Given the description of an element on the screen output the (x, y) to click on. 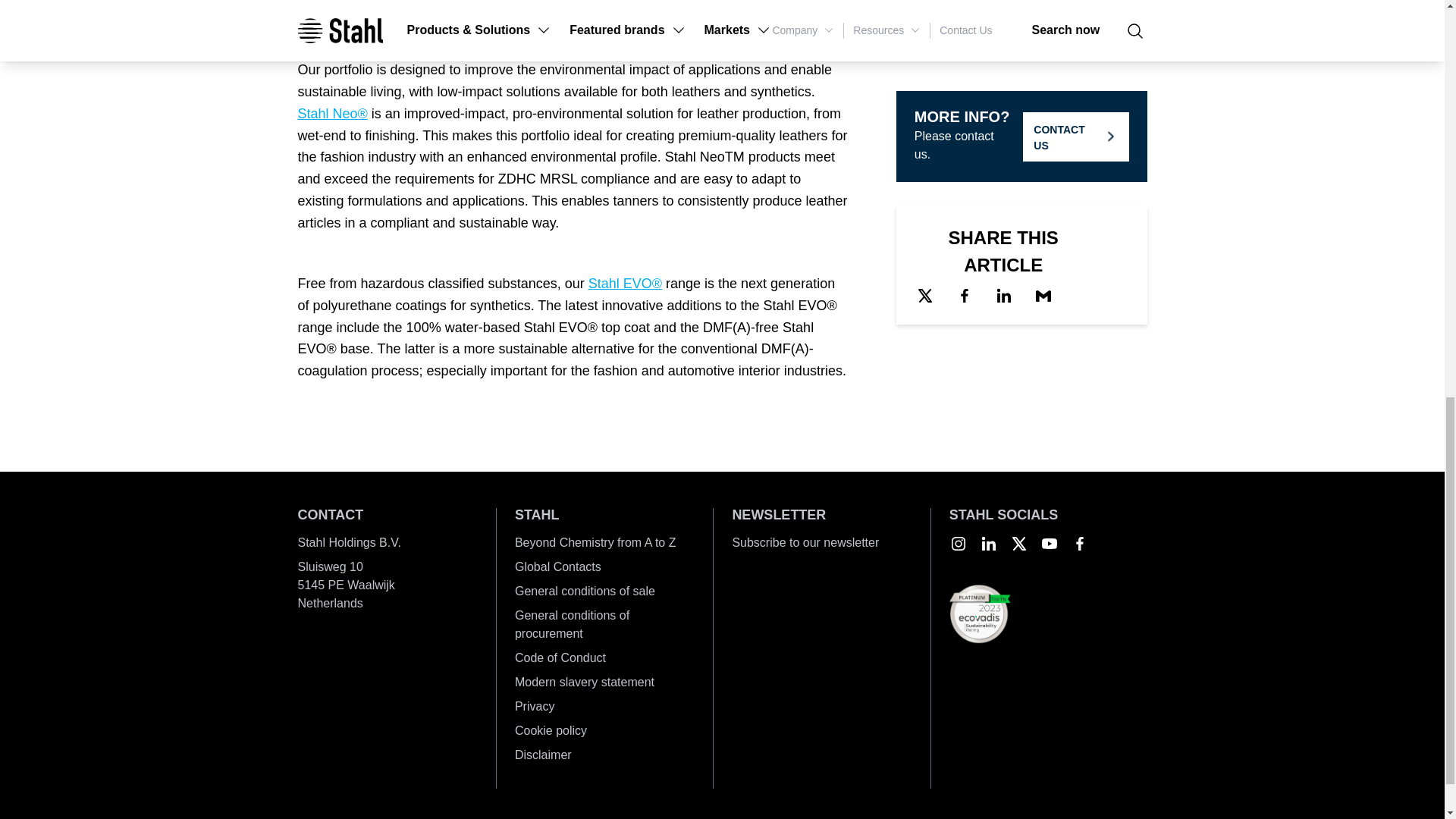
General conditions of procurement (604, 624)
Cookie policy (604, 730)
Disclaimer (604, 755)
Modern slavery statement (604, 682)
Code of Conduct (604, 658)
Privacy (604, 706)
Global Contacts (604, 566)
Beyond Chemistry from A to Z (604, 542)
General conditions of sale (604, 591)
